Given the description of an element on the screen output the (x, y) to click on. 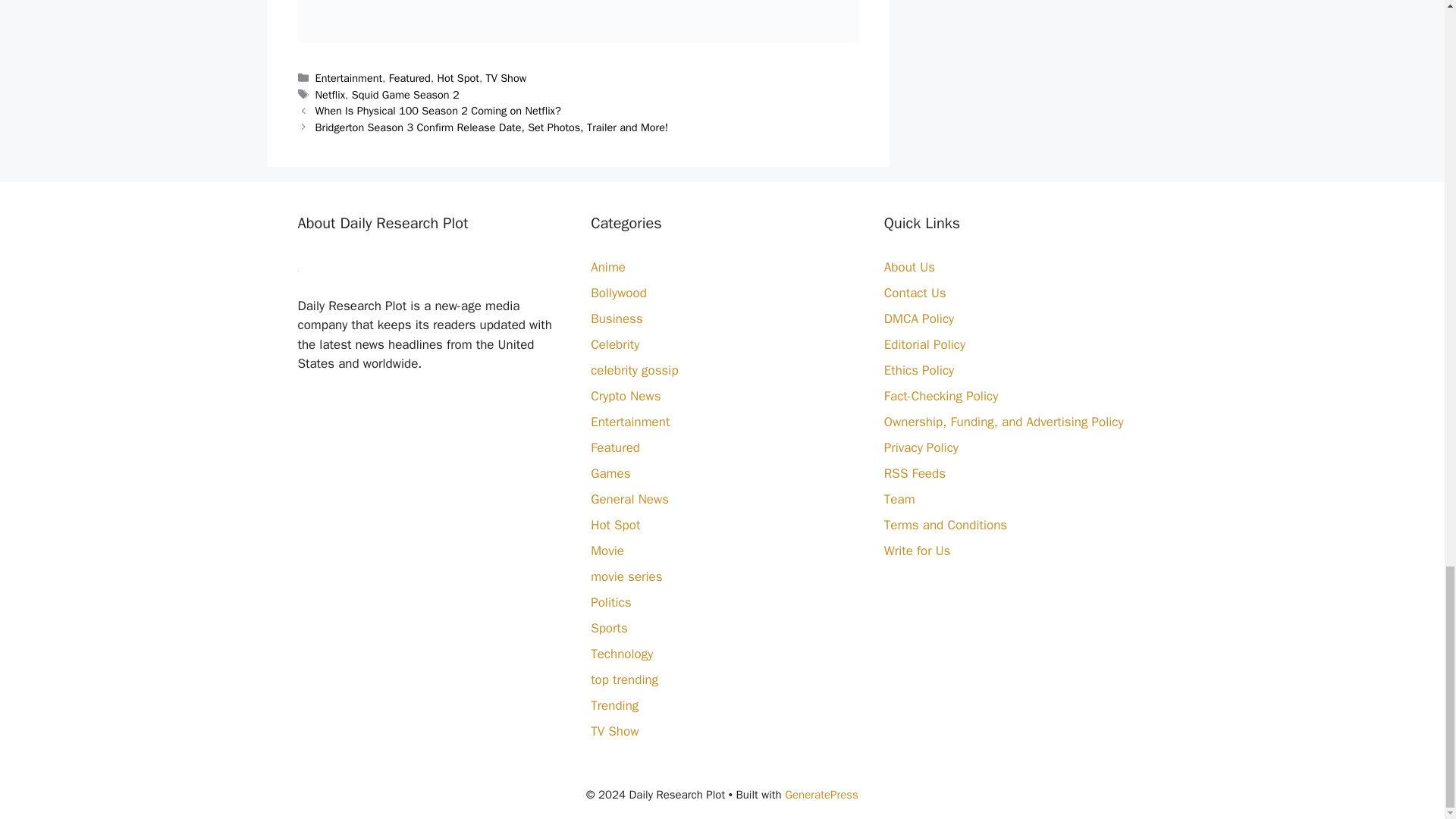
Hot Spot (458, 78)
Bollywood (618, 293)
Squid Game Season 2 (406, 94)
Entertainment (348, 78)
Anime (608, 267)
Netflix (330, 94)
When Is Physical 100 Season 2 Coming on Netflix? (437, 110)
TV Show (506, 78)
Featured (409, 78)
